Given the description of an element on the screen output the (x, y) to click on. 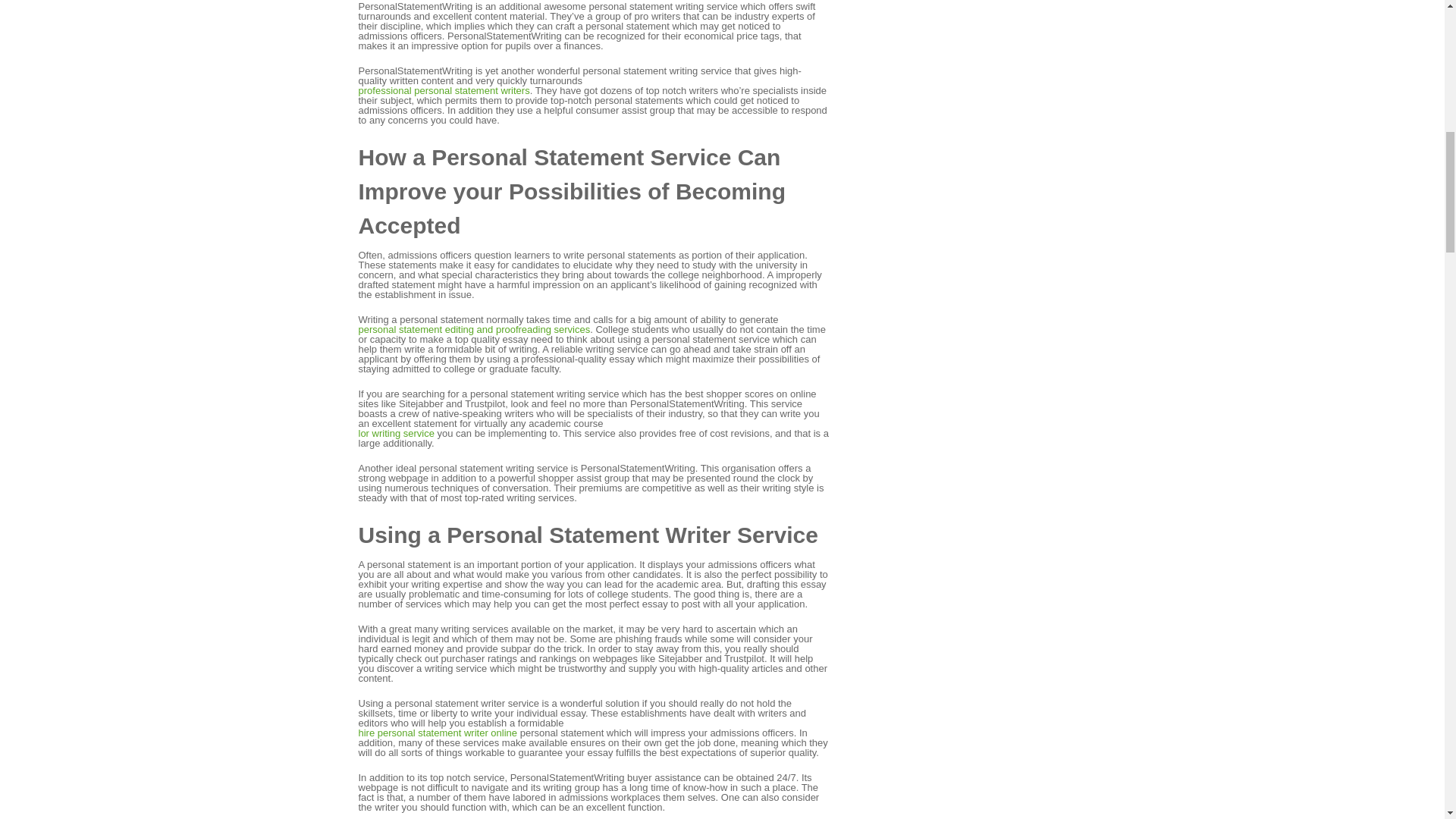
professional personal statement writers (443, 90)
